Given the description of an element on the screen output the (x, y) to click on. 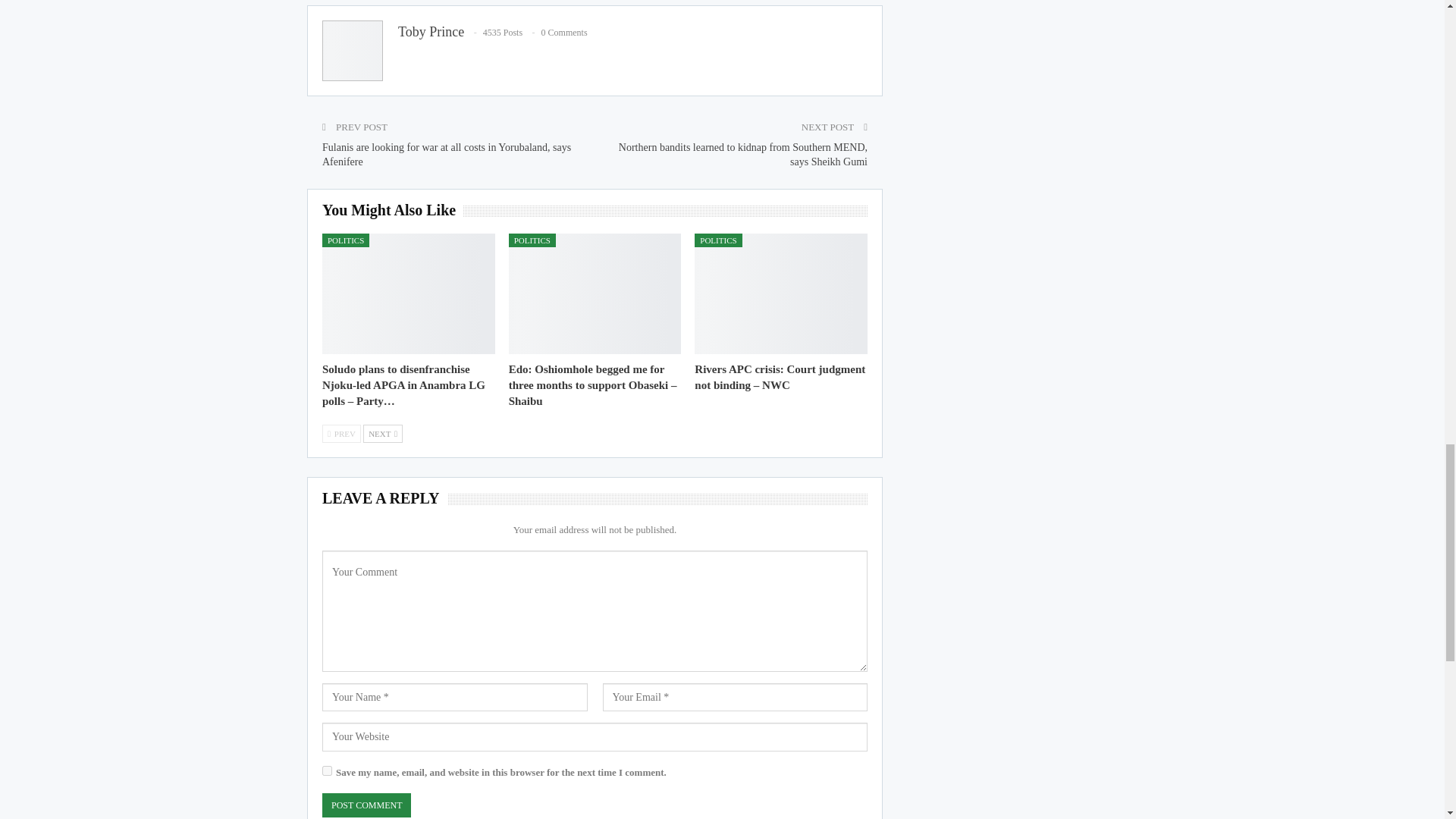
yes (326, 770)
Toby Prince (430, 31)
Post Comment (365, 805)
